Given the description of an element on the screen output the (x, y) to click on. 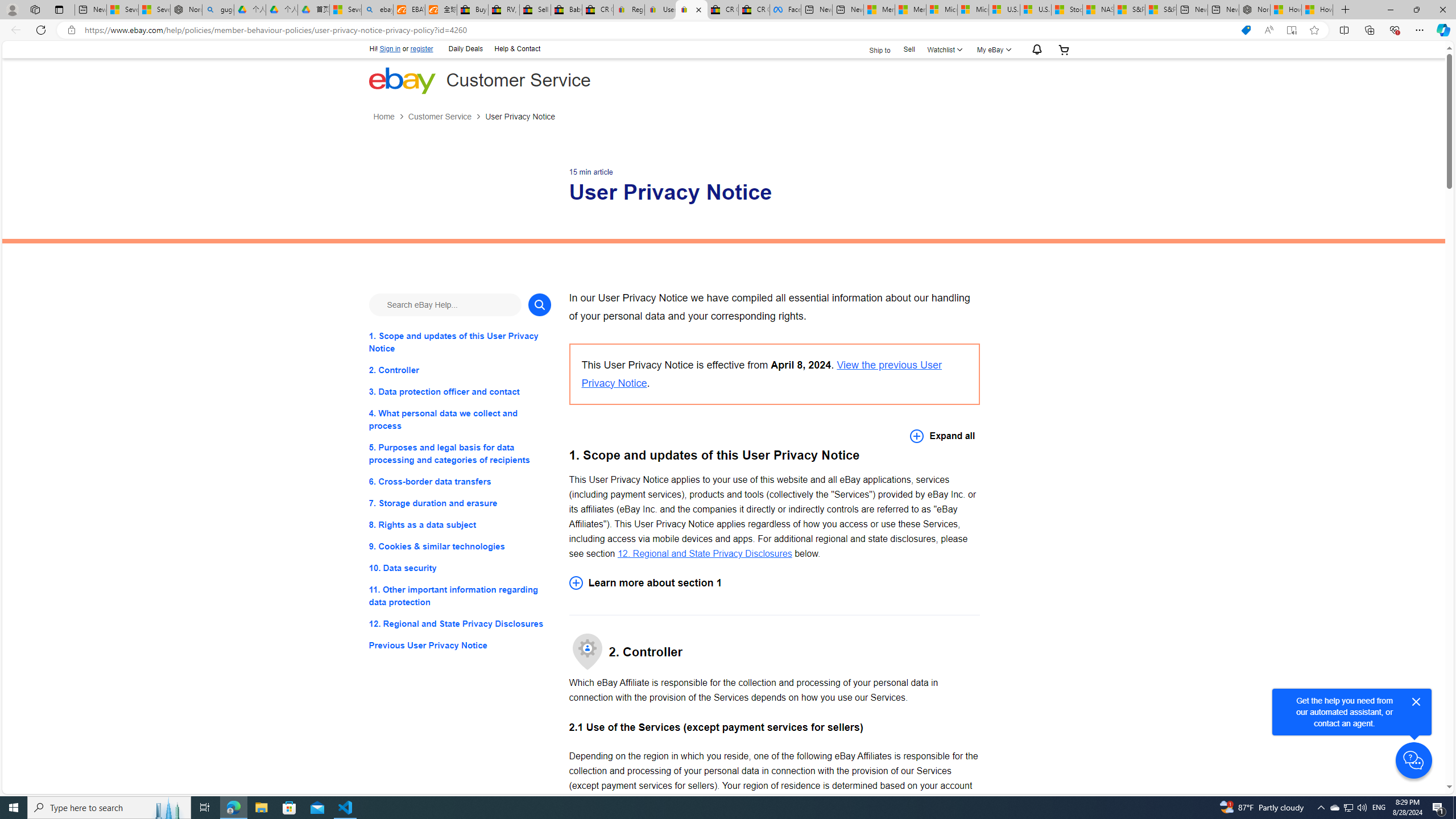
My eBay (992, 49)
User Privacy Notice (520, 117)
9. Cookies & similar technologies (459, 546)
12. Regional and State Privacy Disclosures (459, 623)
eBay Home (401, 80)
Previous User Privacy Notice (459, 645)
Watchlist (943, 49)
6. Cross-border data transfers (459, 481)
Your shopping cart (1064, 49)
